Given the description of an element on the screen output the (x, y) to click on. 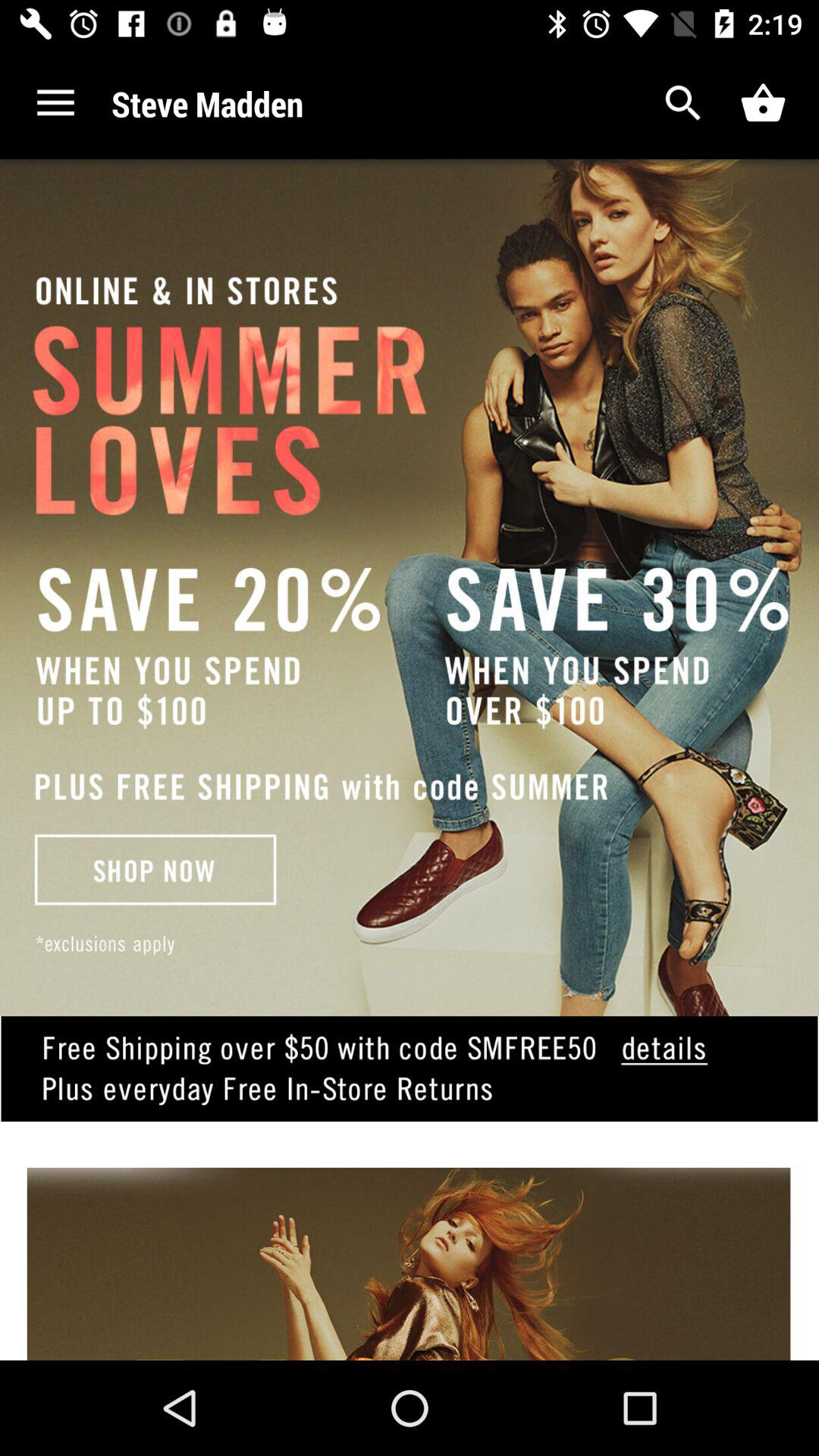
go to search (683, 103)
